Given the description of an element on the screen output the (x, y) to click on. 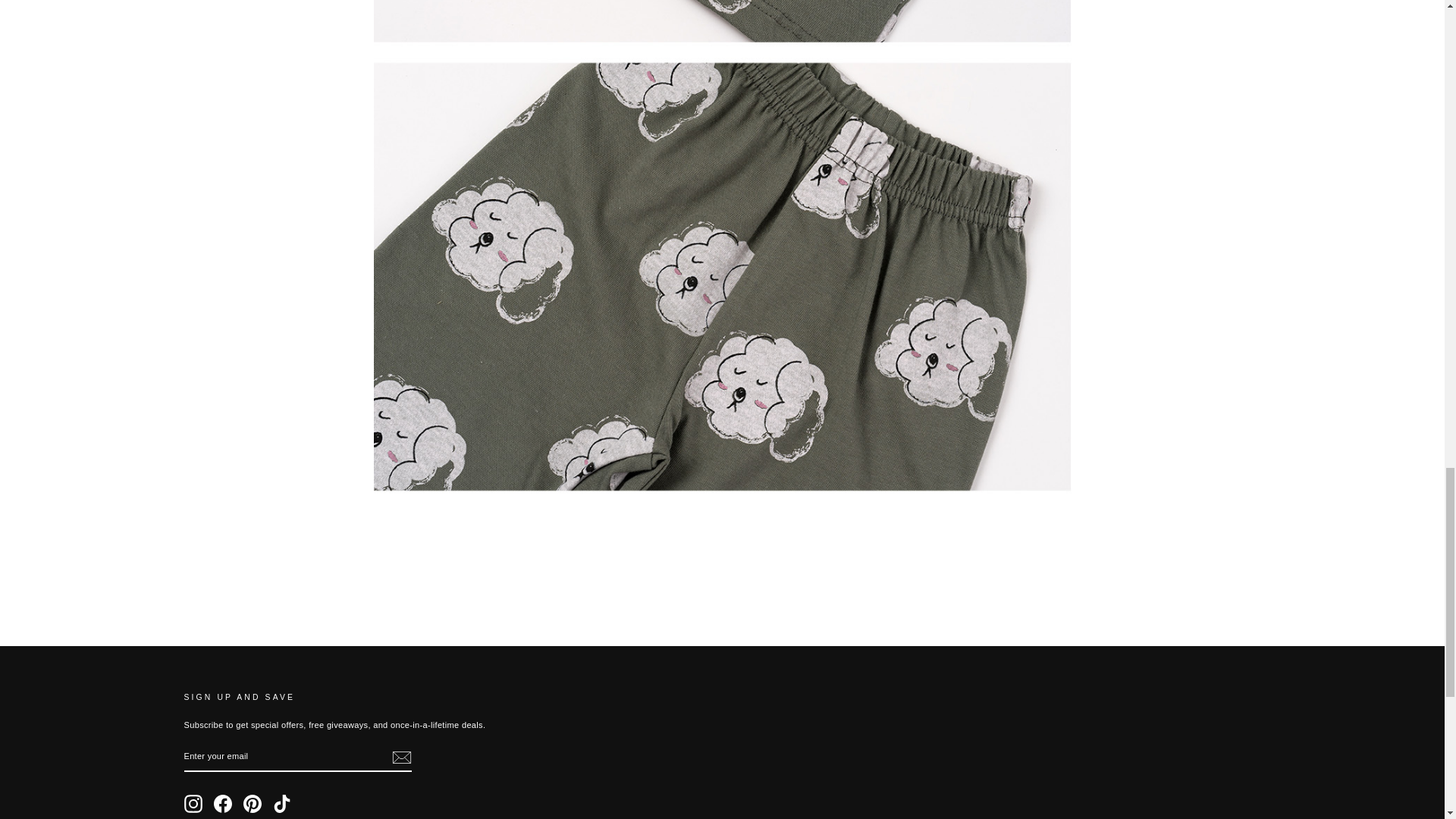
instagram (192, 803)
Sunday Hug on Instagram (192, 803)
Sunday Hug on Facebook (222, 803)
icon-email (400, 757)
Sunday Hug on Pinterest (251, 803)
Sunday Hug on TikTok (282, 803)
